Given the description of an element on the screen output the (x, y) to click on. 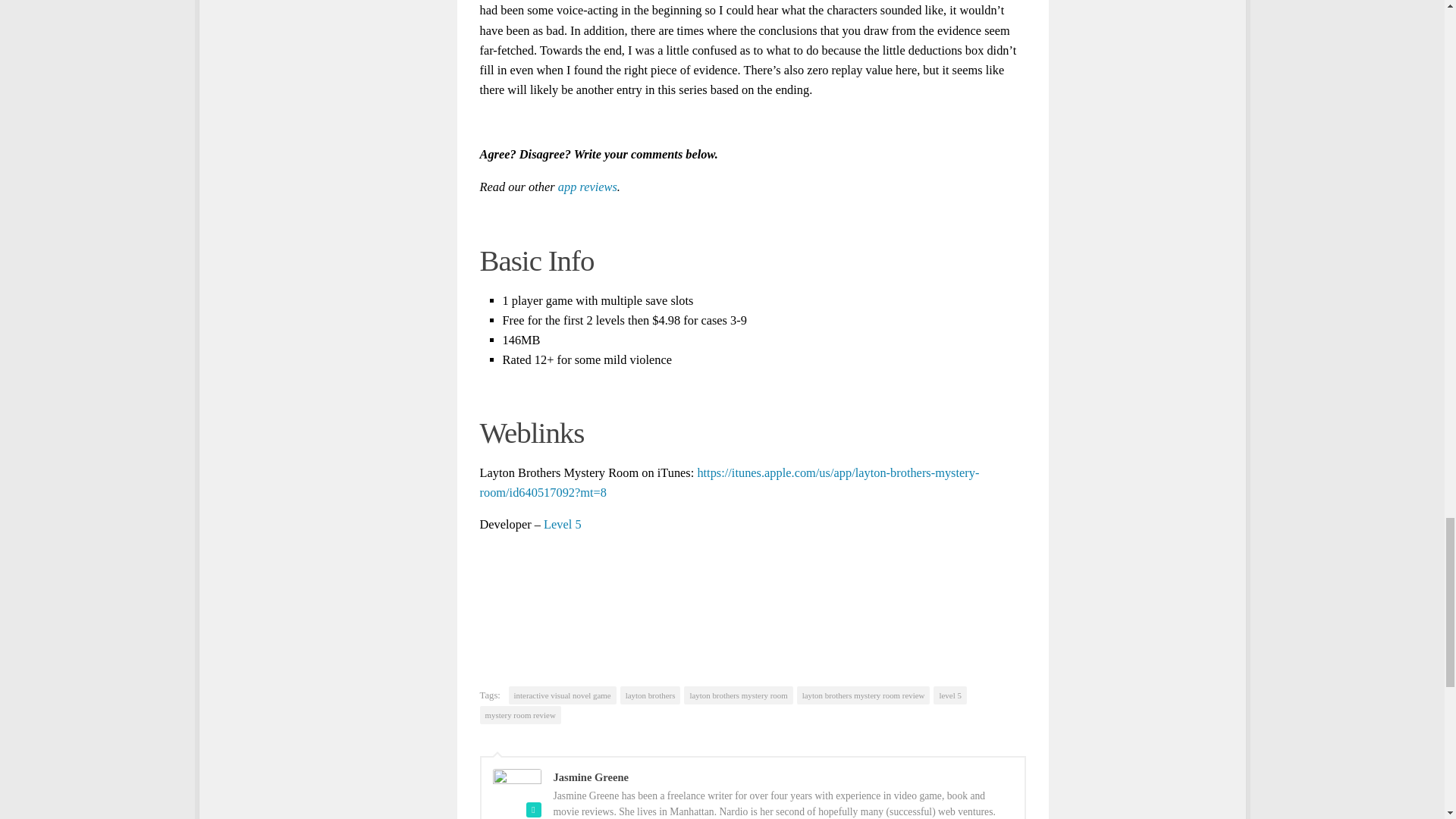
interactive visual novel game (561, 695)
Level 5 (561, 523)
layton brothers (650, 695)
app reviews (587, 186)
level 5 (949, 695)
mystery room review (519, 714)
layton brothers mystery room review (863, 695)
layton brothers mystery room (738, 695)
